Given the description of an element on the screen output the (x, y) to click on. 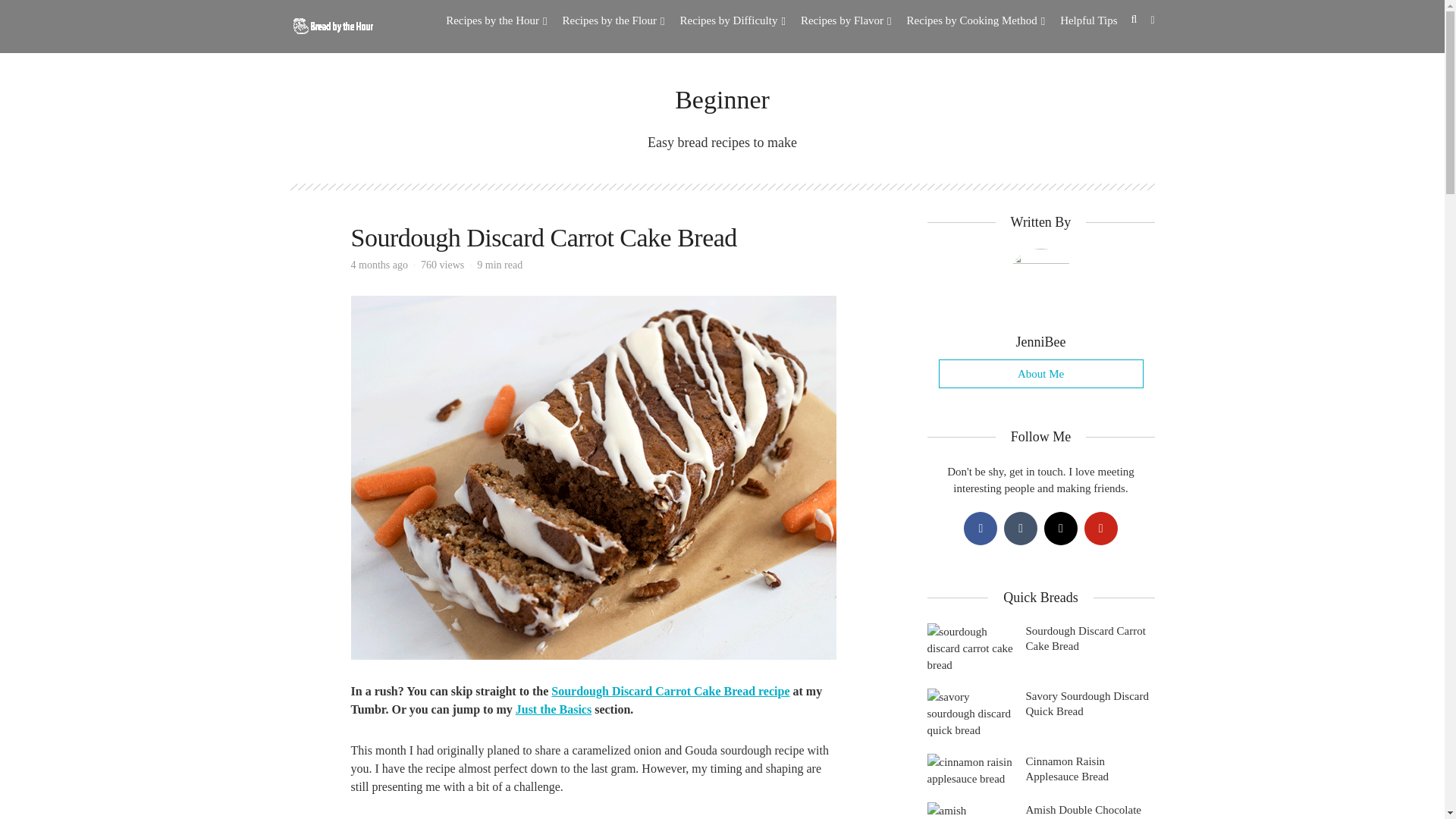
Recipes by the Hour (496, 20)
Bread by the Hour (330, 24)
Helpful Tips (1087, 20)
Recipes by Difficulty (732, 20)
Recipes by the Flour (613, 20)
Sourdough Discard Carrot Cake Bread (543, 237)
Recipes by Flavor (845, 20)
Recipes by Cooking Method (976, 20)
